Given the description of an element on the screen output the (x, y) to click on. 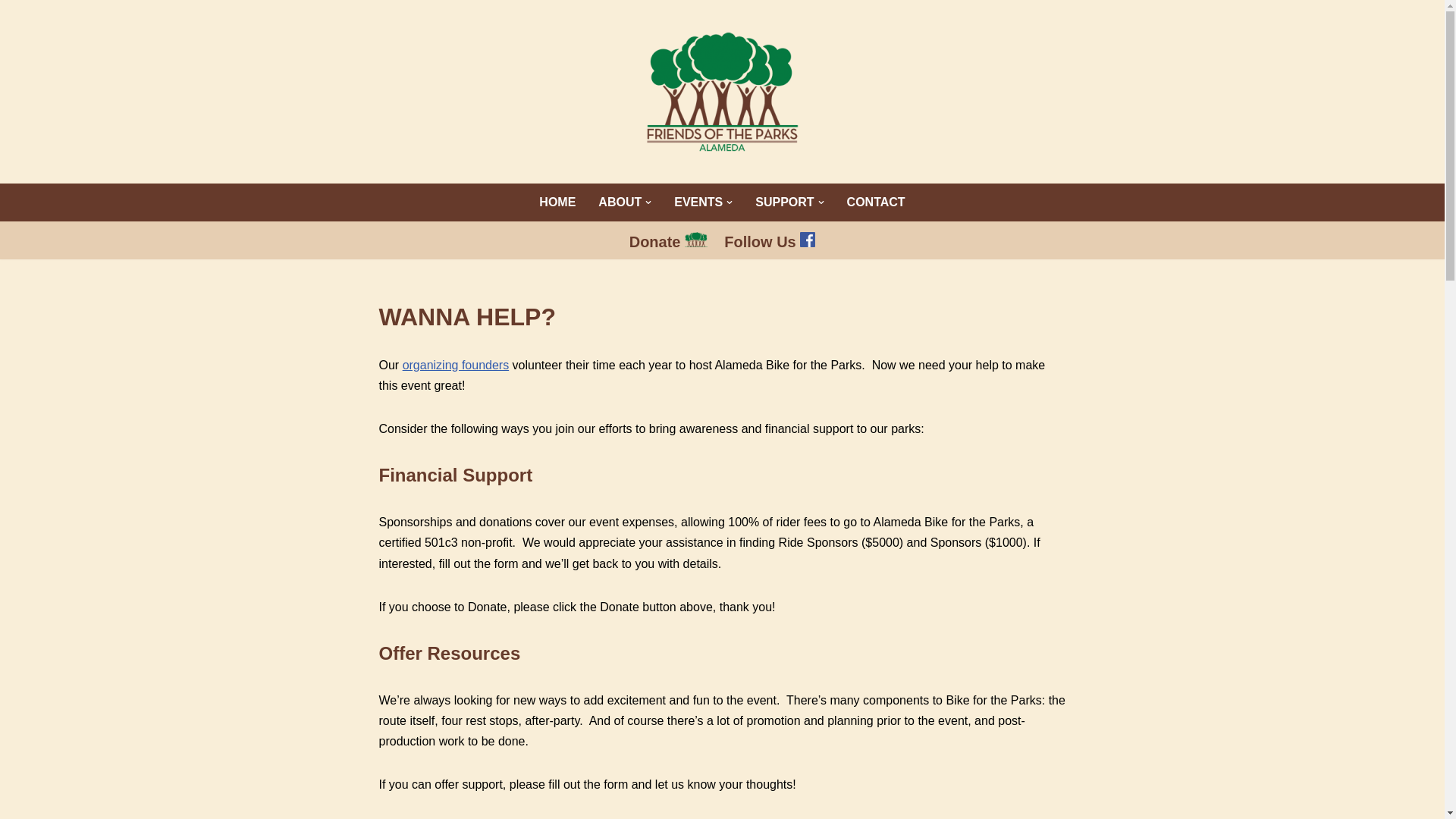
Donate (667, 241)
Skip to content (11, 31)
Alameda Friends of the Park Foundation (721, 91)
EVENTS (703, 202)
ABOUT (624, 202)
Follow Us (769, 241)
organizing founders (456, 364)
CONTACT (876, 202)
HOME (556, 202)
SUPPORT (789, 202)
